Given the description of an element on the screen output the (x, y) to click on. 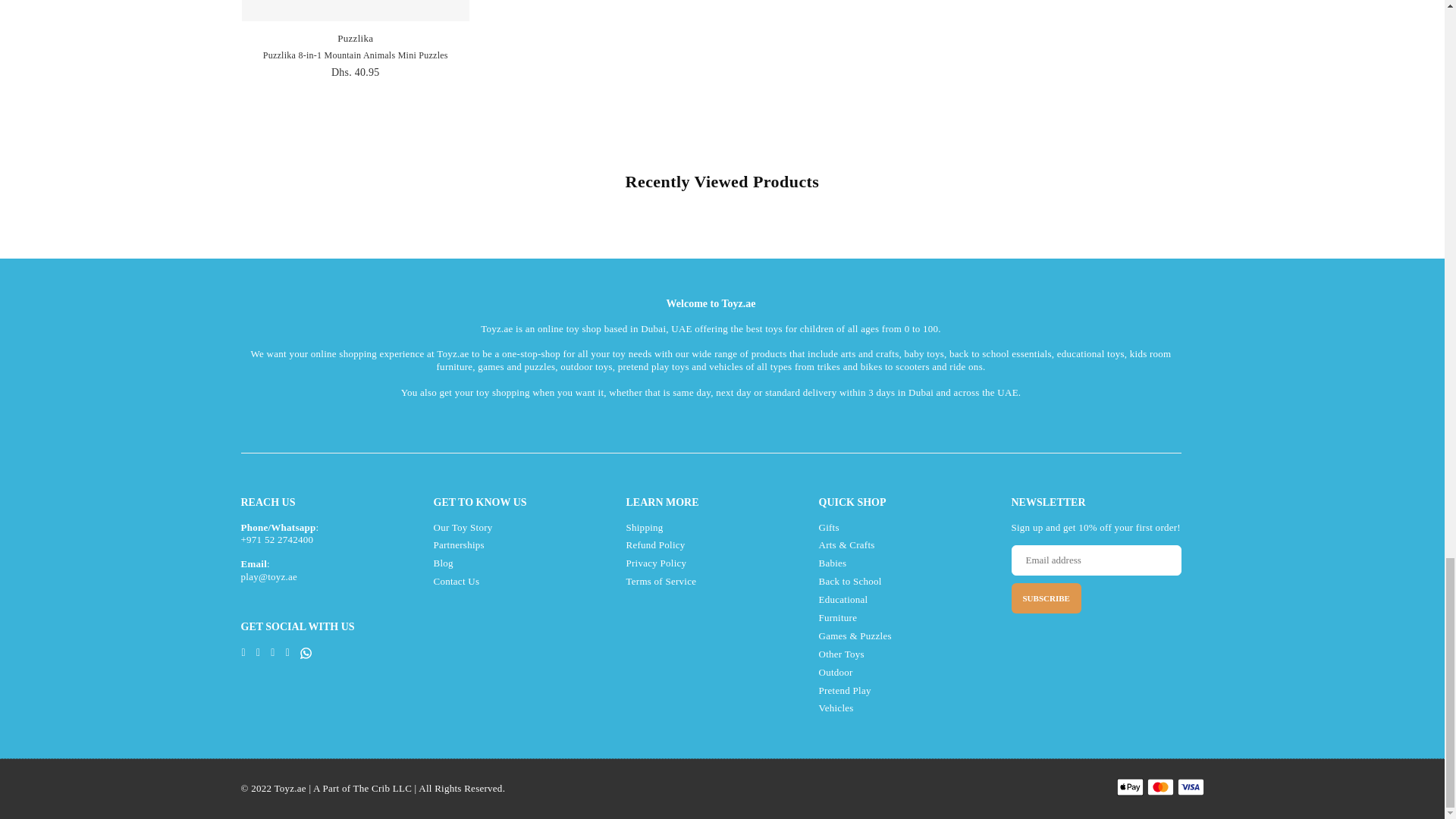
Apple Pay (1129, 787)
Mastercard (1160, 787)
Visa (1190, 787)
